Given the description of an element on the screen output the (x, y) to click on. 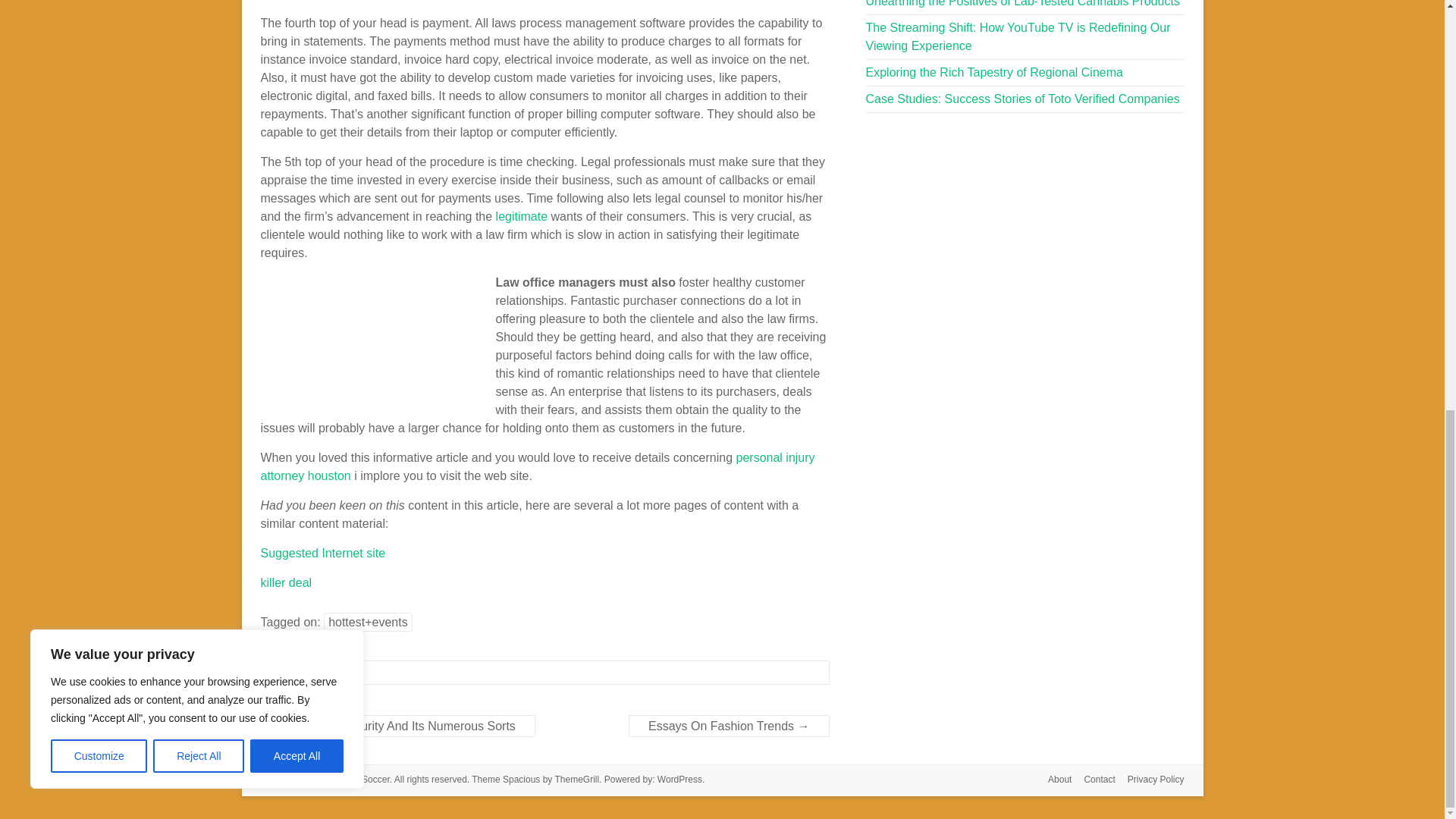
WordPress (679, 778)
Friday Soccer (360, 778)
killer deal (286, 582)
legitimate (521, 215)
Spacious (521, 778)
Suggested Internet site (322, 553)
General (301, 672)
personal injury attorney houston (537, 466)
